Given the description of an element on the screen output the (x, y) to click on. 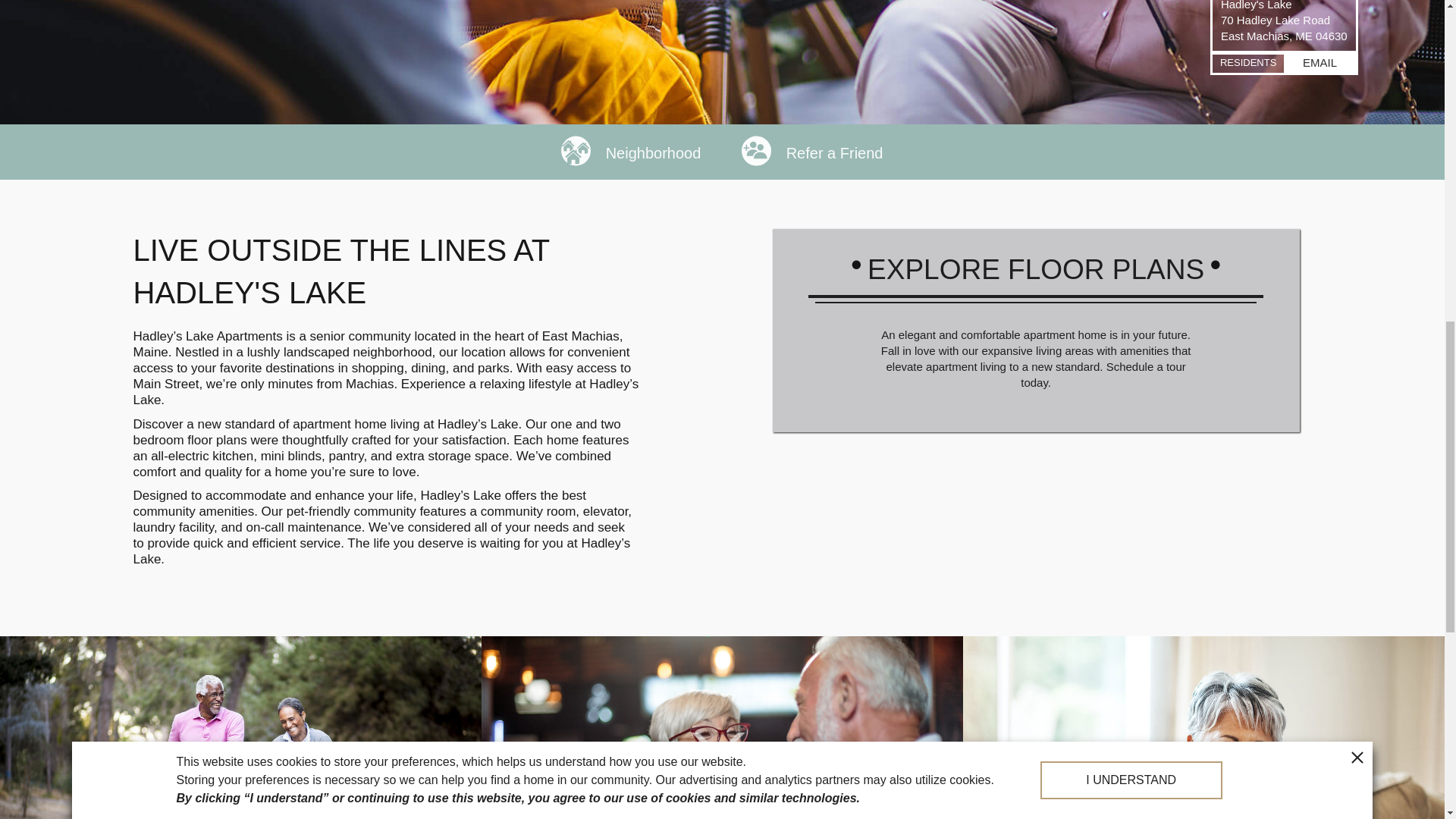
Refer a Friend (811, 151)
EMAIL (1319, 63)
EXPLORE FLOOR PLANS (1035, 266)
RESIDENTS (1248, 63)
Neighborhood (630, 151)
refer-a-friend (721, 727)
